Given the description of an element on the screen output the (x, y) to click on. 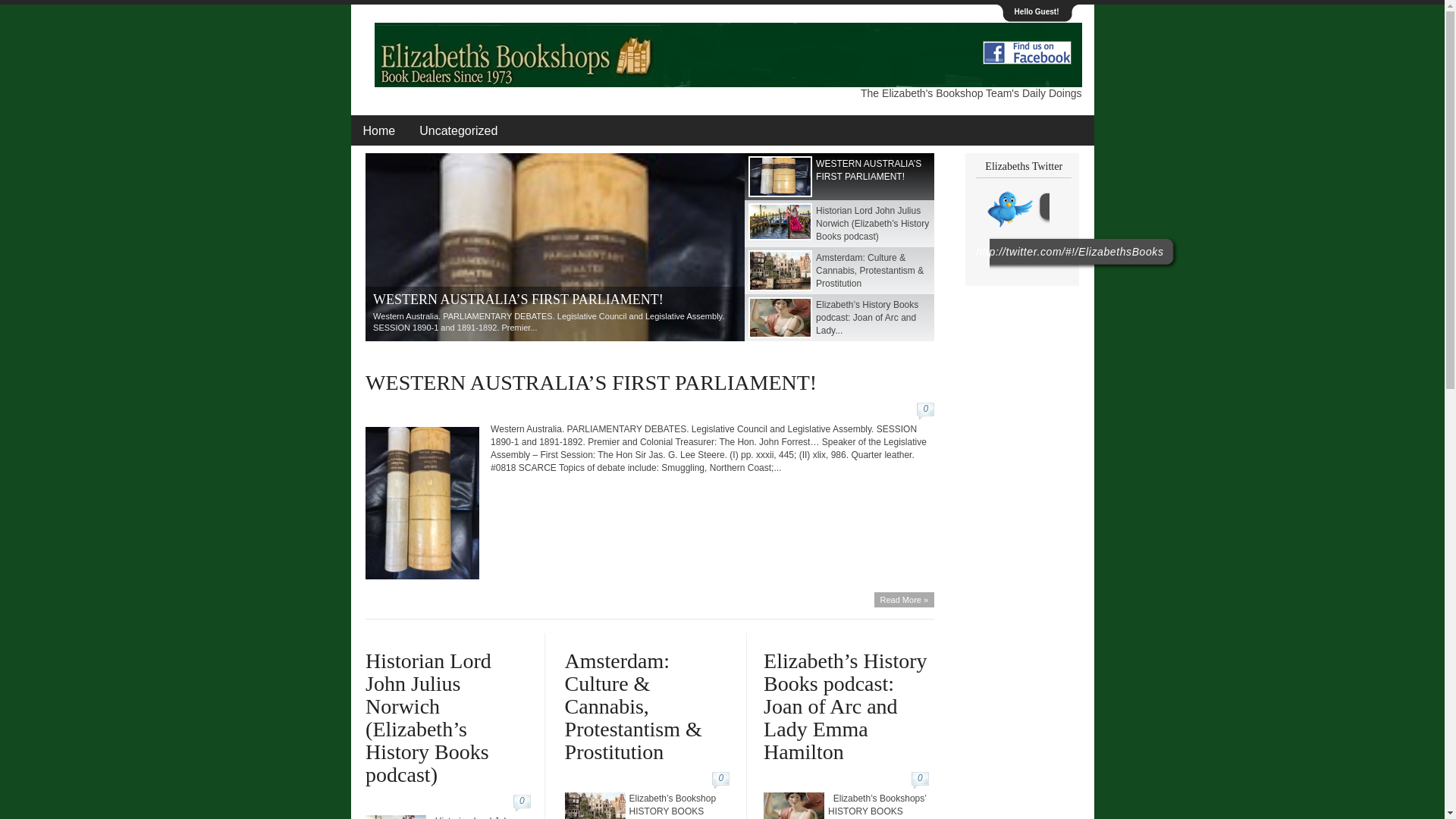
http://twitter.com/#!/ElizabethsBooks Element type: text (1069, 251)
Uncategorized Element type: text (458, 130)
Amsterdam: Culture & Cannabis, Protestantism & Prostitution Element type: text (633, 706)
Amsterdam: Culture & Cannabis, Protestantism & Prostitution Element type: text (839, 270)
0 Element type: text (922, 779)
0 Element type: text (524, 802)
Home Element type: text (378, 130)
0 Element type: text (723, 779)
Hello Guest! Element type: text (1036, 10)
0 Element type: text (928, 410)
